Given the description of an element on the screen output the (x, y) to click on. 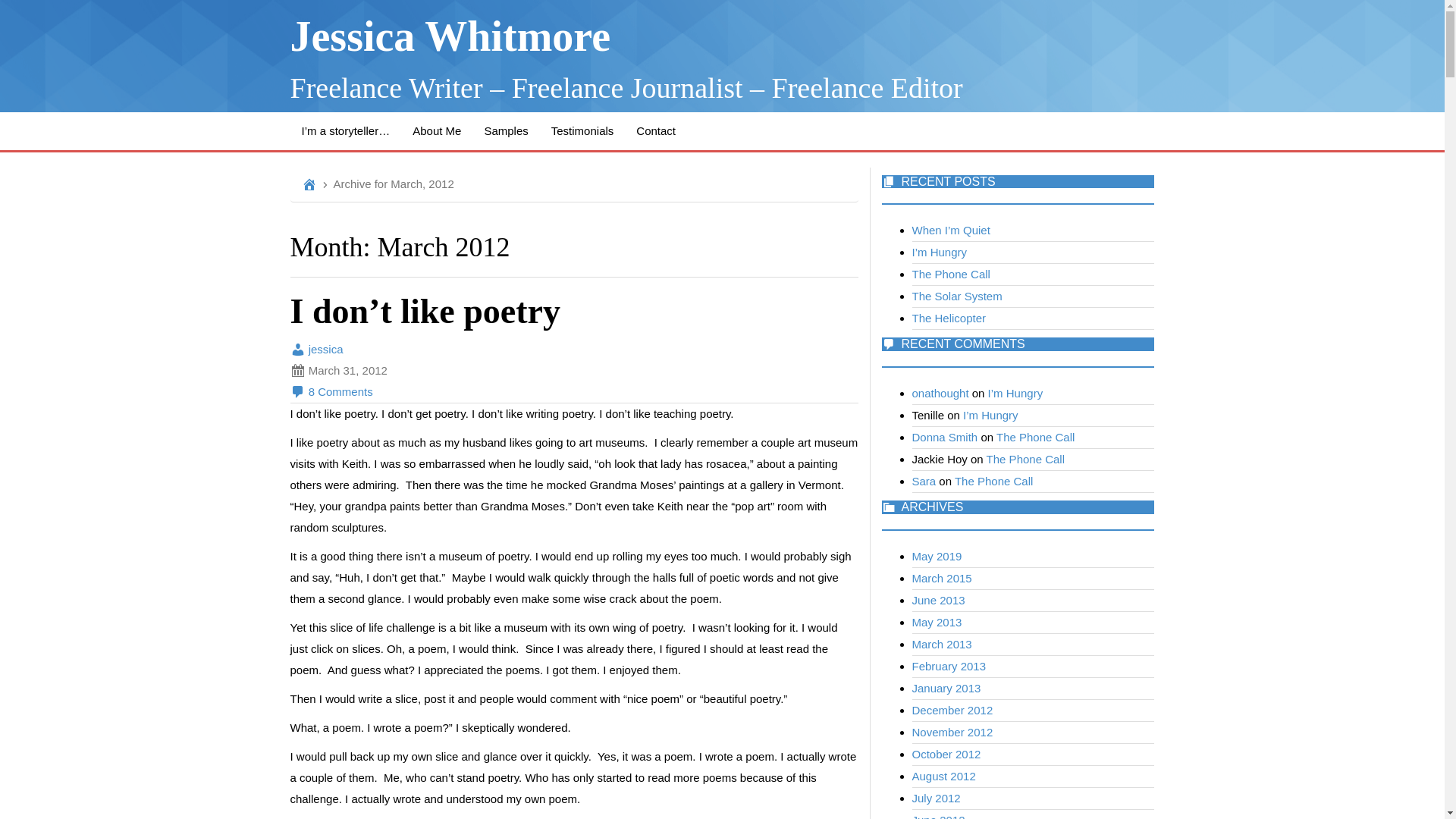
Contact (655, 130)
 jessica (315, 349)
Jessica Whitmore (449, 36)
Testimonials (583, 130)
Samples (504, 130)
About Me (436, 130)
Saturday, March 31, 2012 6:37 am (573, 370)
8 Comments (330, 391)
